Given the description of an element on the screen output the (x, y) to click on. 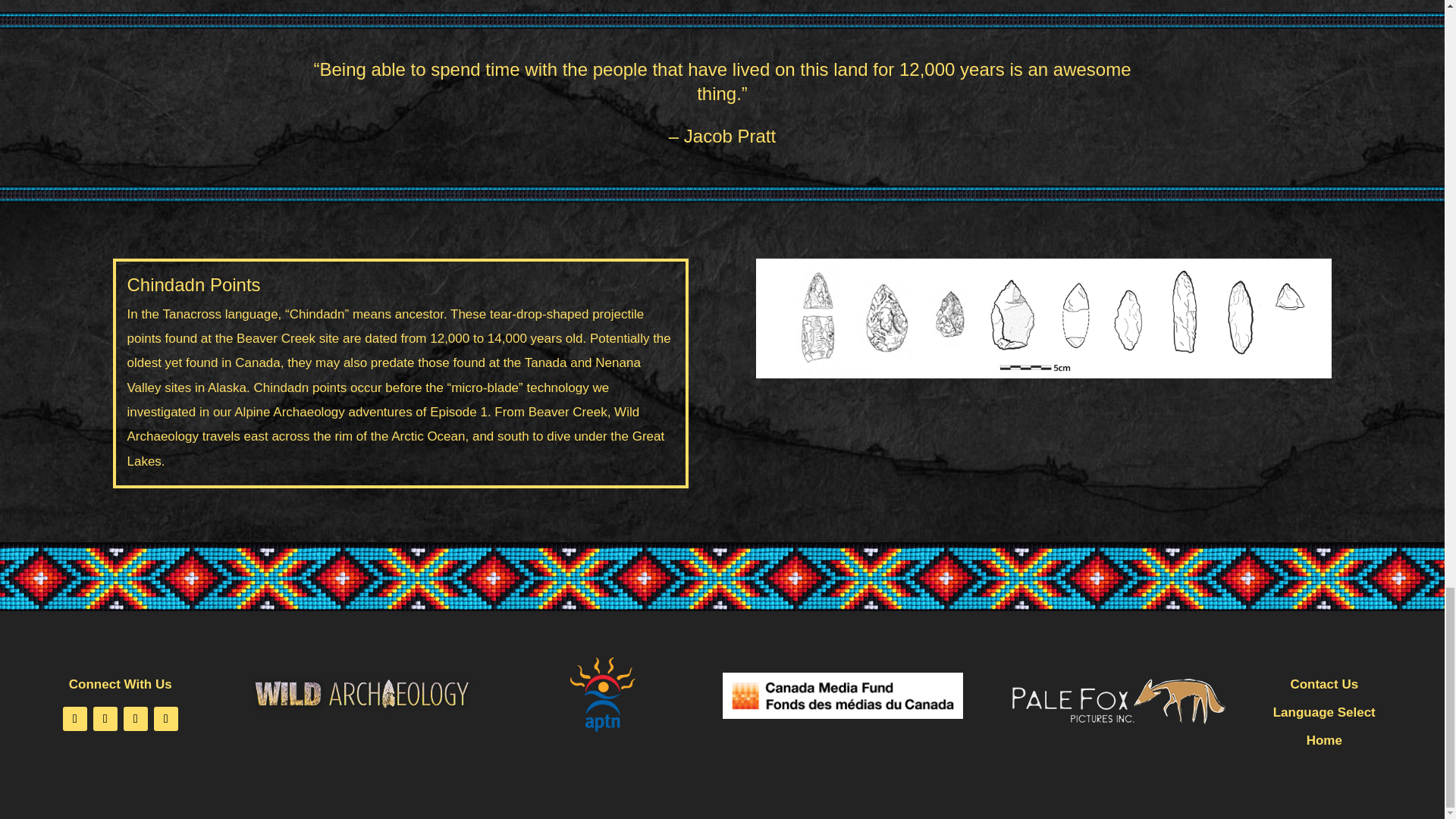
Follow on Twitter (105, 718)
Follow on Instagram (135, 718)
logo (361, 693)
Follow on tumblr (165, 718)
Follow on Facebook (74, 718)
